Given the description of an element on the screen output the (x, y) to click on. 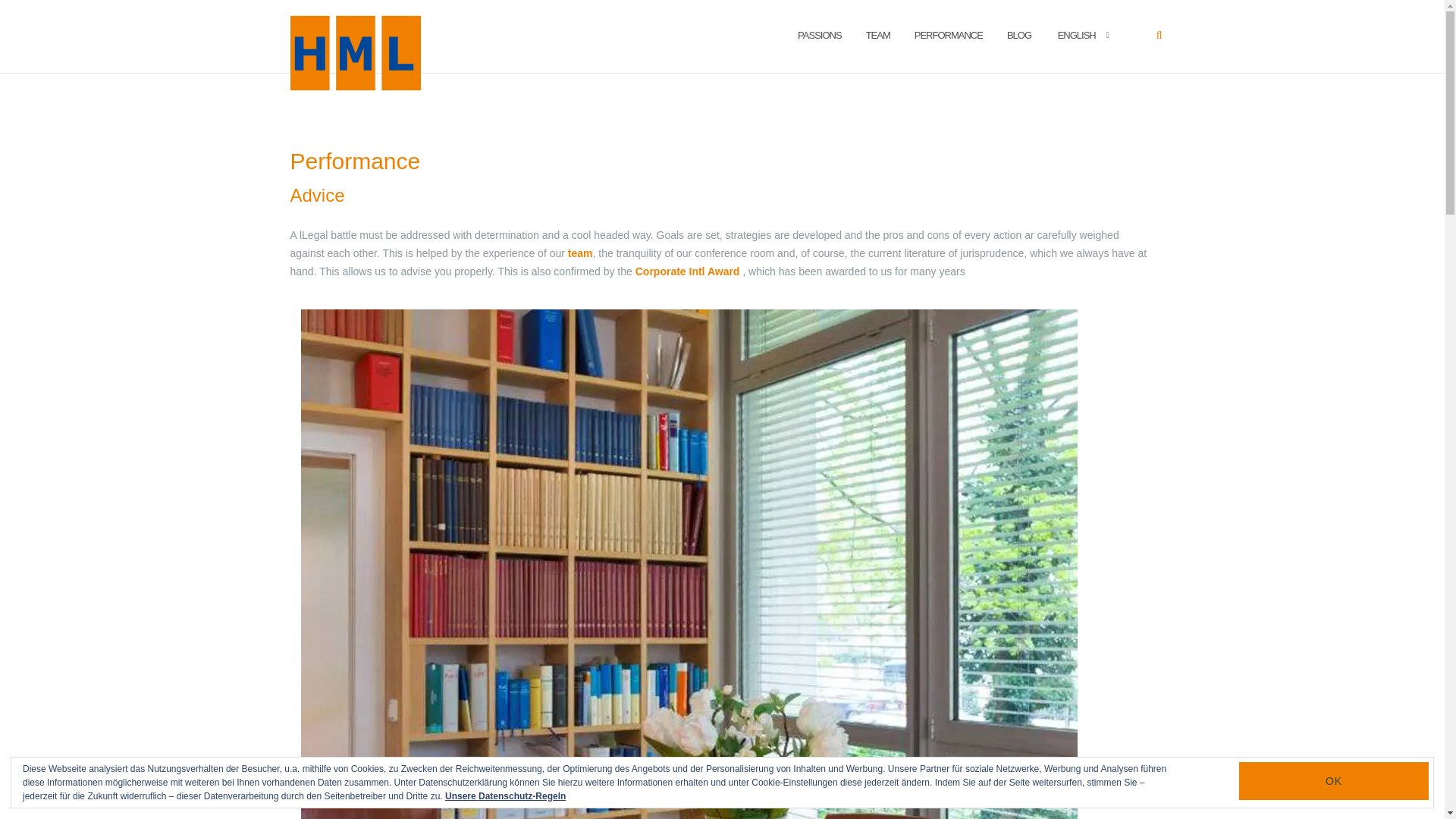
Performance (354, 160)
OK (1333, 781)
Unsere Datenschutz-Regeln (505, 796)
team (579, 253)
Corporate Intl Award (686, 271)
English (1075, 35)
PERFORMANCE (948, 35)
 ENGLISH (1075, 35)
Performance (948, 35)
Passions (819, 35)
PASSIONS (819, 35)
OK (1333, 781)
